Given the description of an element on the screen output the (x, y) to click on. 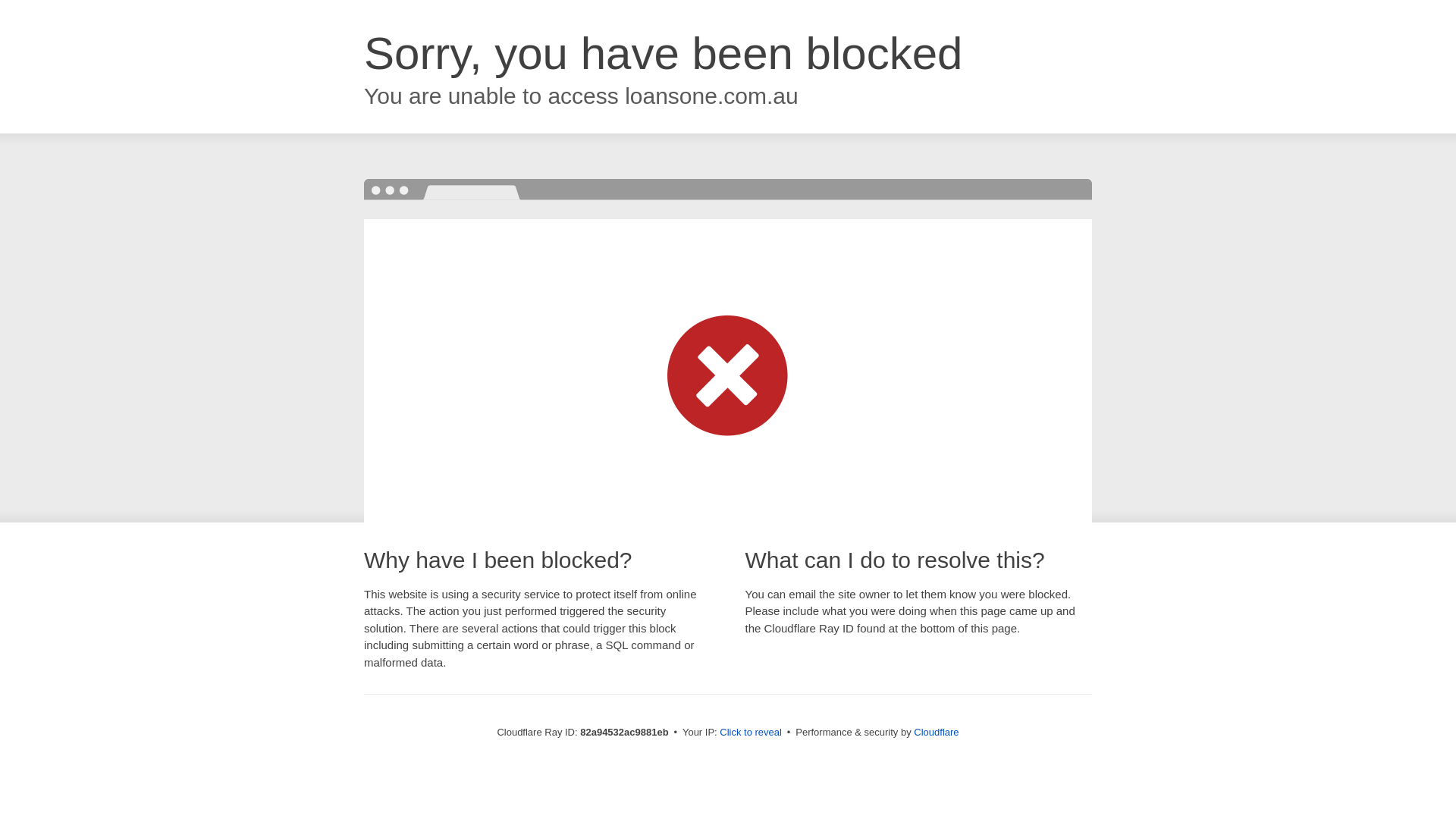
Cloudflare Element type: text (935, 731)
Click to reveal Element type: text (750, 732)
